Given the description of an element on the screen output the (x, y) to click on. 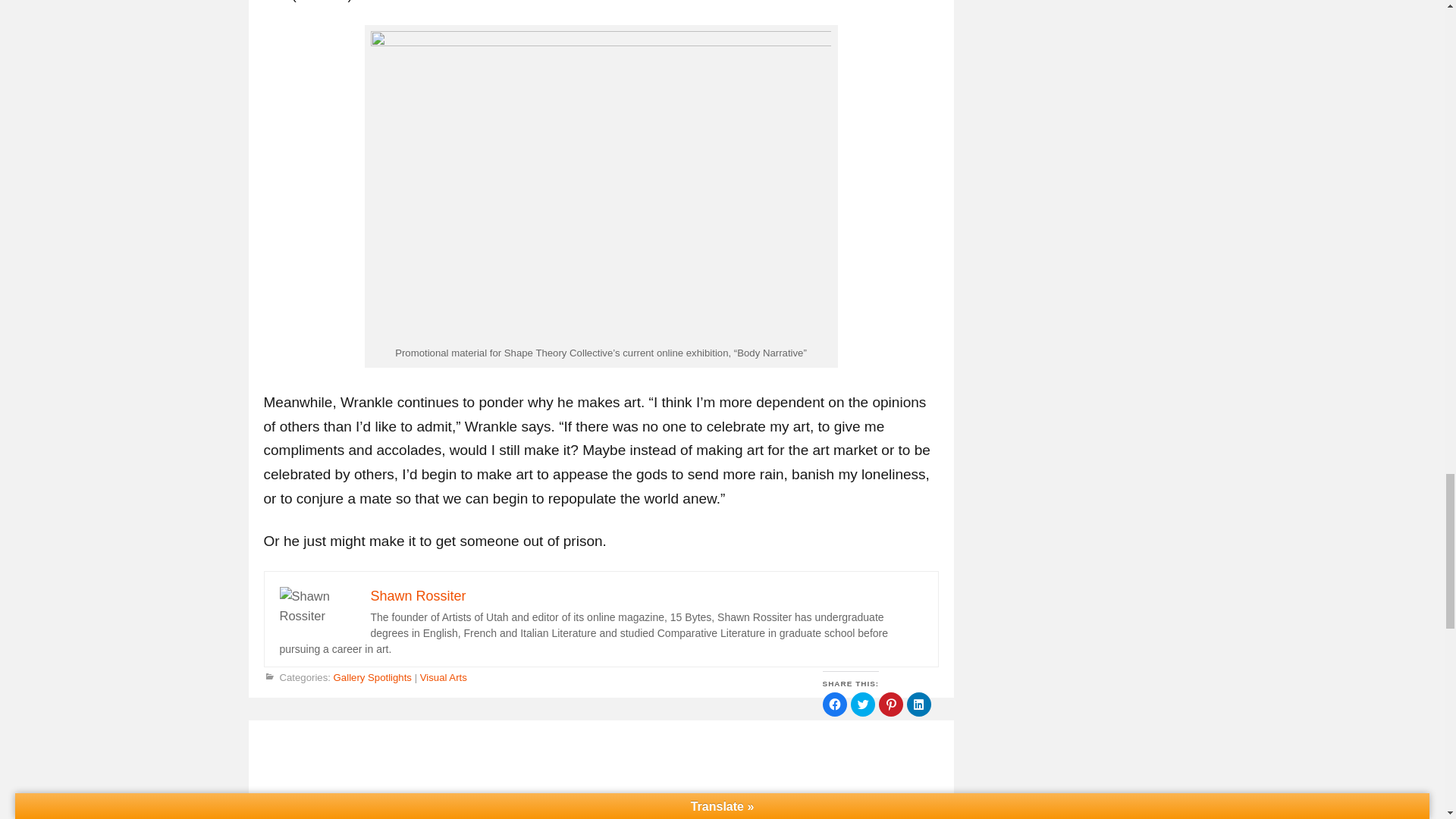
Click to share on Facebook (833, 704)
Click to share on Twitter (862, 704)
Click to share on LinkedIn (919, 704)
Click to share on Pinterest (889, 704)
